Given the description of an element on the screen output the (x, y) to click on. 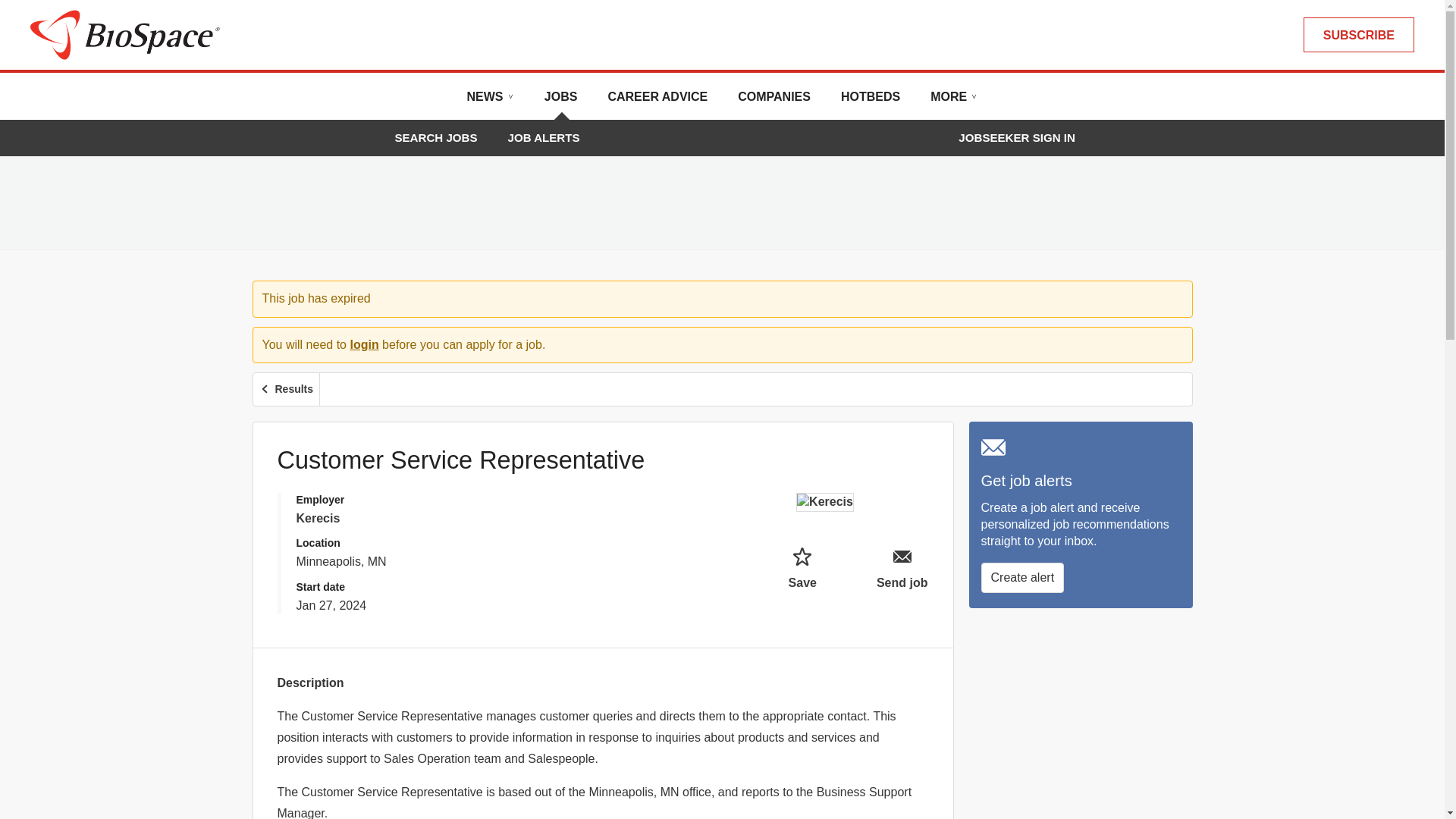
COMPANIES (774, 102)
HOTBEDS (870, 102)
NEWS (490, 102)
SUBSCRIBE (1358, 34)
JOB ALERTS (543, 137)
JOBS (561, 102)
BioSpace (124, 34)
CAREER ADVICE (657, 102)
MORE (953, 102)
JOBSEEKER SIGN IN (1016, 137)
